Given the description of an element on the screen output the (x, y) to click on. 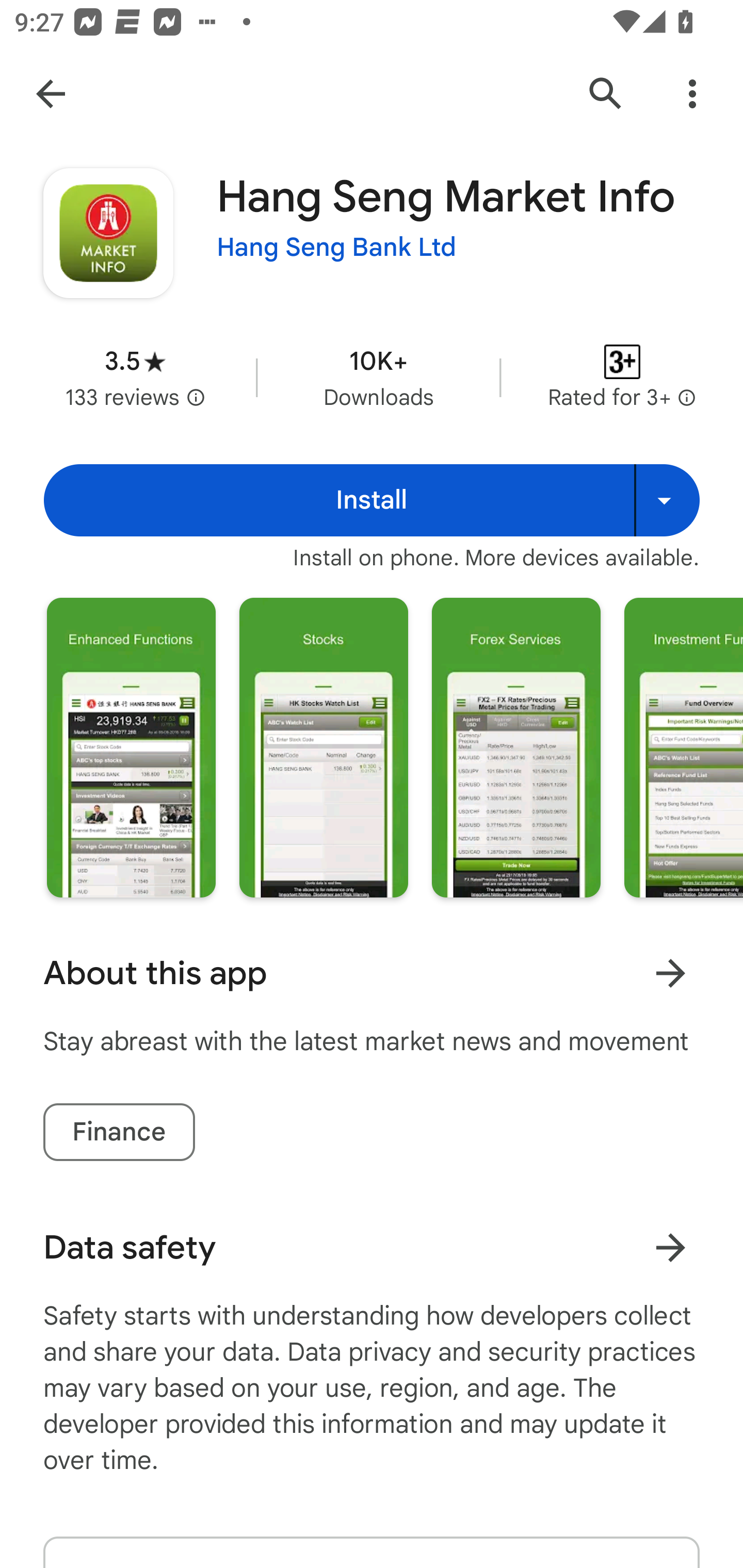
Navigate up (50, 93)
Search Google Play (605, 93)
More Options (692, 93)
Hang Seng Bank Ltd (336, 247)
Average rating 3.5 stars in 133 reviews (135, 377)
Content rating Rated for 3+ (622, 377)
Install Install Install on more devices (371, 500)
Install on more devices (667, 500)
Screenshot "1" of "4" (130, 746)
Screenshot "2" of "4" (323, 746)
Screenshot "3" of "4" (515, 746)
Screenshot "4" of "4" (683, 746)
About this app Learn more About this app (371, 972)
Learn more About this app (670, 972)
Finance tag (118, 1132)
Data safety Learn more about data safety (371, 1247)
Learn more about data safety (670, 1247)
